Given the description of an element on the screen output the (x, y) to click on. 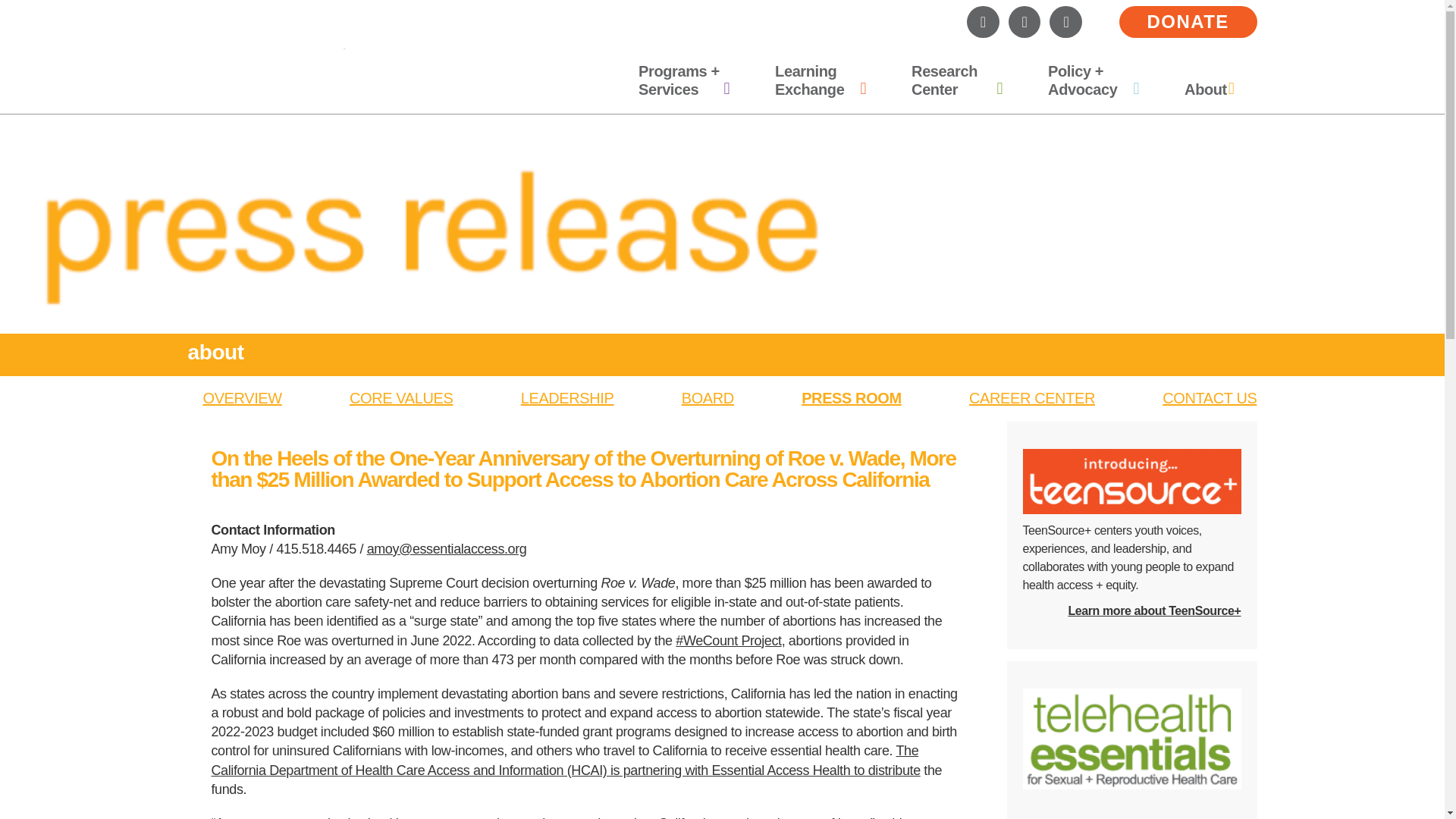
About (1208, 88)
Find us on Twitter (1025, 21)
Advocacy (1093, 79)
Learning Exchange (820, 79)
Find us on Instagram (982, 21)
Donate to Essential Access (1188, 21)
Research Center (956, 79)
